Given the description of an element on the screen output the (x, y) to click on. 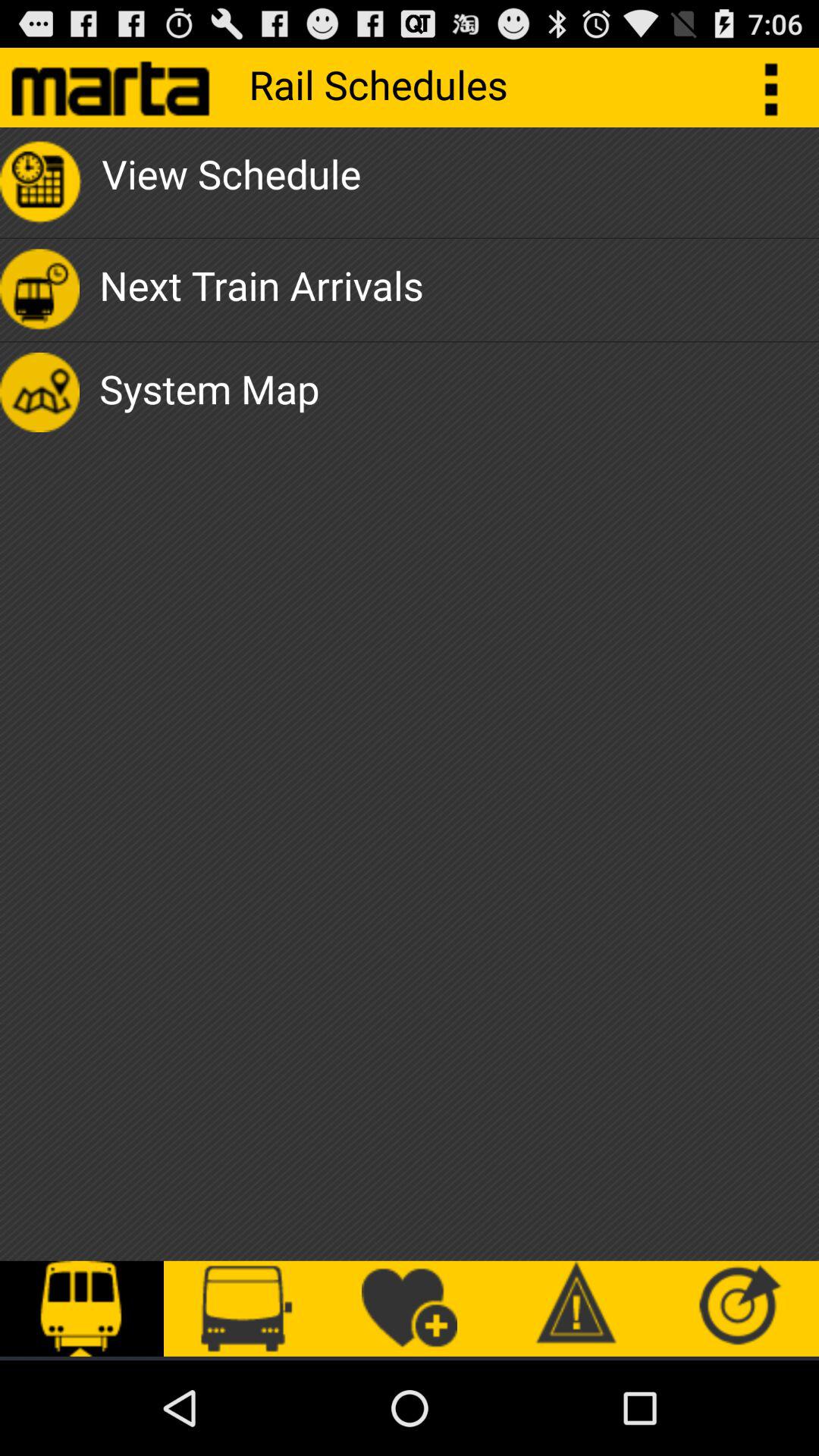
tap item to the right of the view schedule app (779, 87)
